Given the description of an element on the screen output the (x, y) to click on. 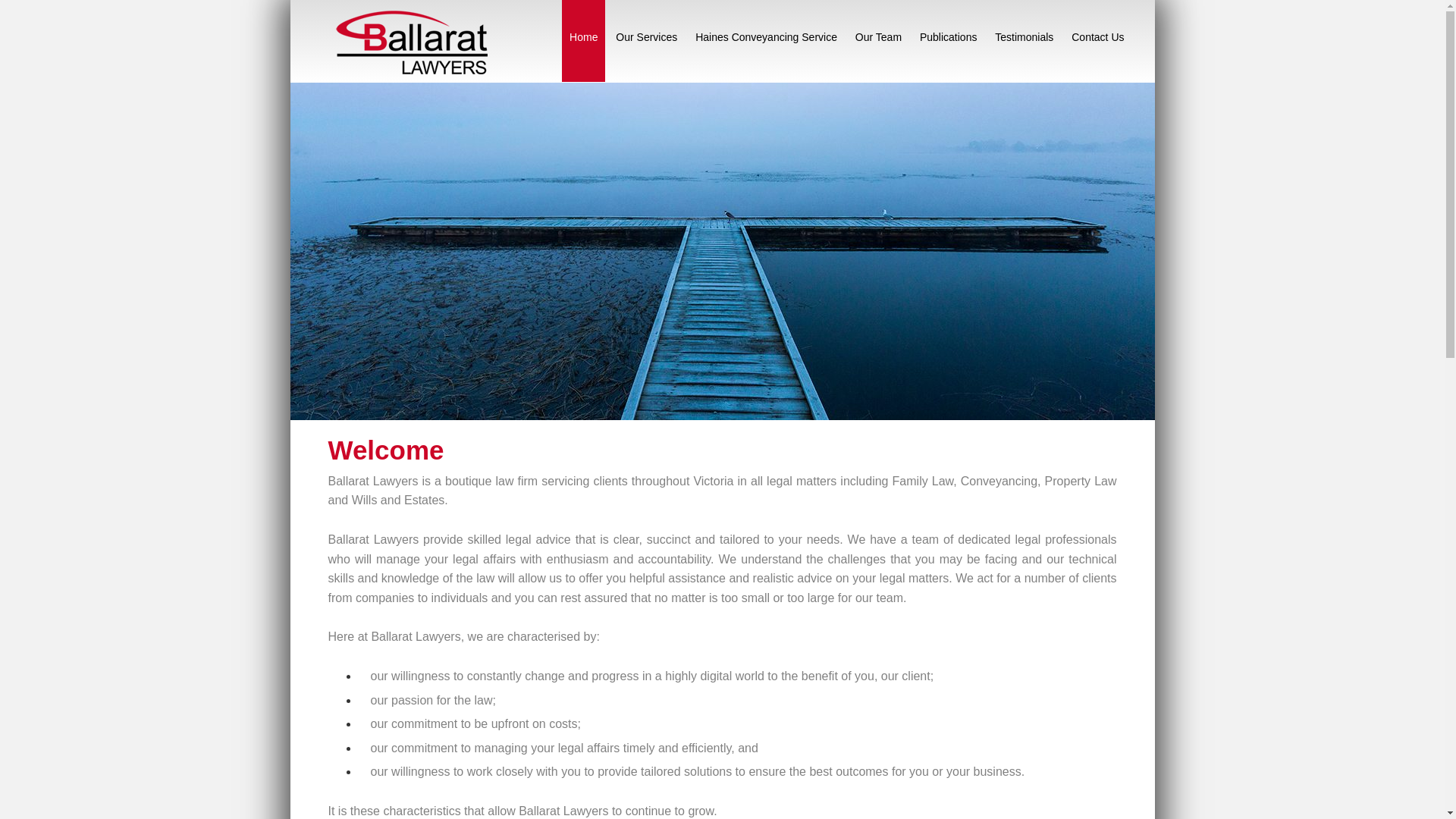
Our Services (646, 40)
Publications (948, 40)
Haines Conveyancing Service (765, 40)
Ballarat Lawyers (421, 39)
